Given the description of an element on the screen output the (x, y) to click on. 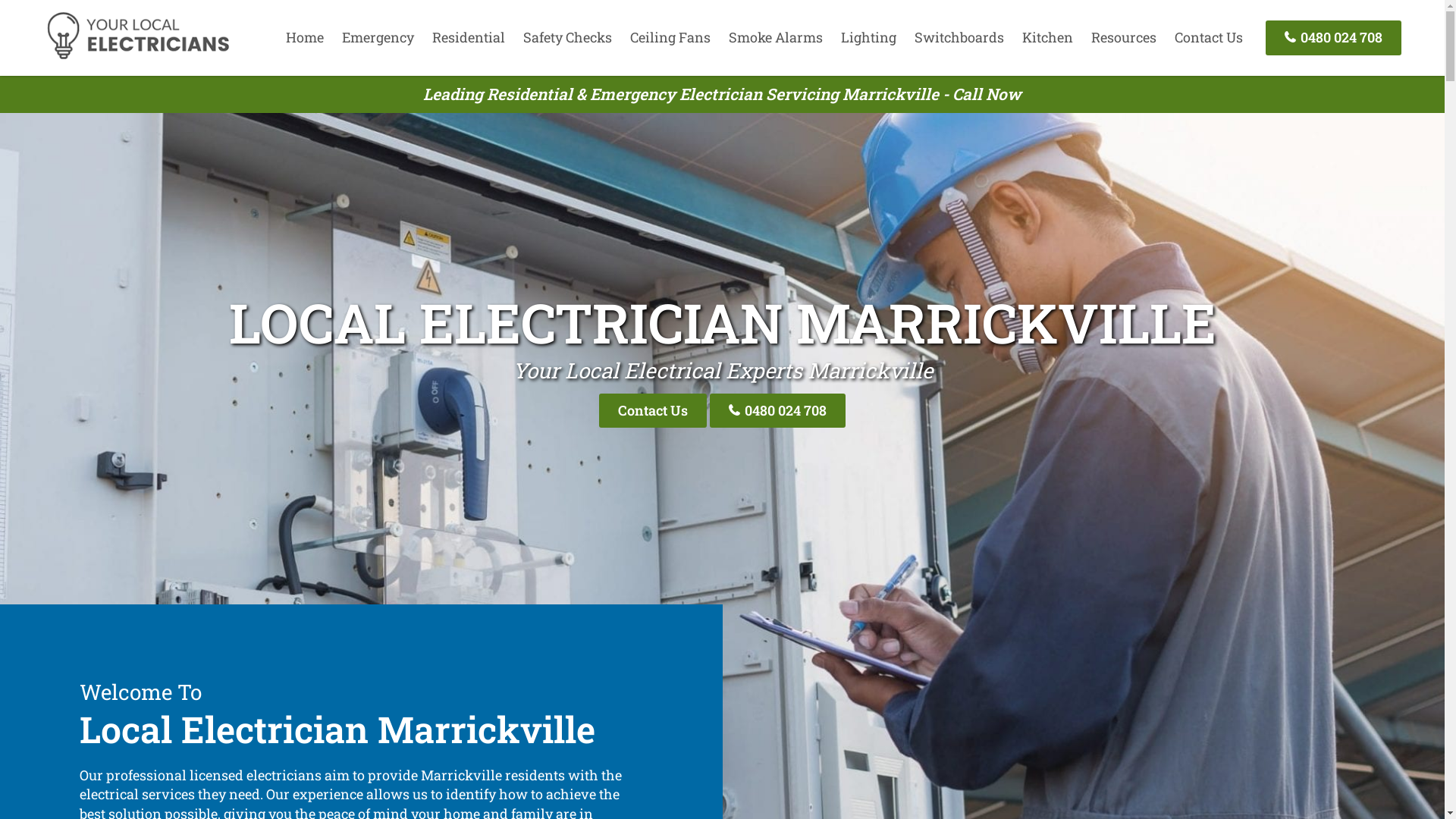
Lighting Element type: text (868, 37)
Kitchen Element type: text (1047, 37)
Emergency Element type: text (377, 37)
Switchboards Element type: text (958, 37)
Resources Element type: text (1123, 37)
Safety Checks Element type: text (567, 37)
Smoke Alarms Element type: text (775, 37)
Home Element type: text (304, 37)
Ceiling Fans Element type: text (670, 37)
Residential Element type: text (468, 37)
Contact Us Element type: text (652, 410)
0480 024 708 Element type: text (777, 410)
Contact Us Element type: text (1208, 37)
0480 024 708 Element type: text (1333, 37)
Electricians Element type: hover (137, 56)
